Given the description of an element on the screen output the (x, y) to click on. 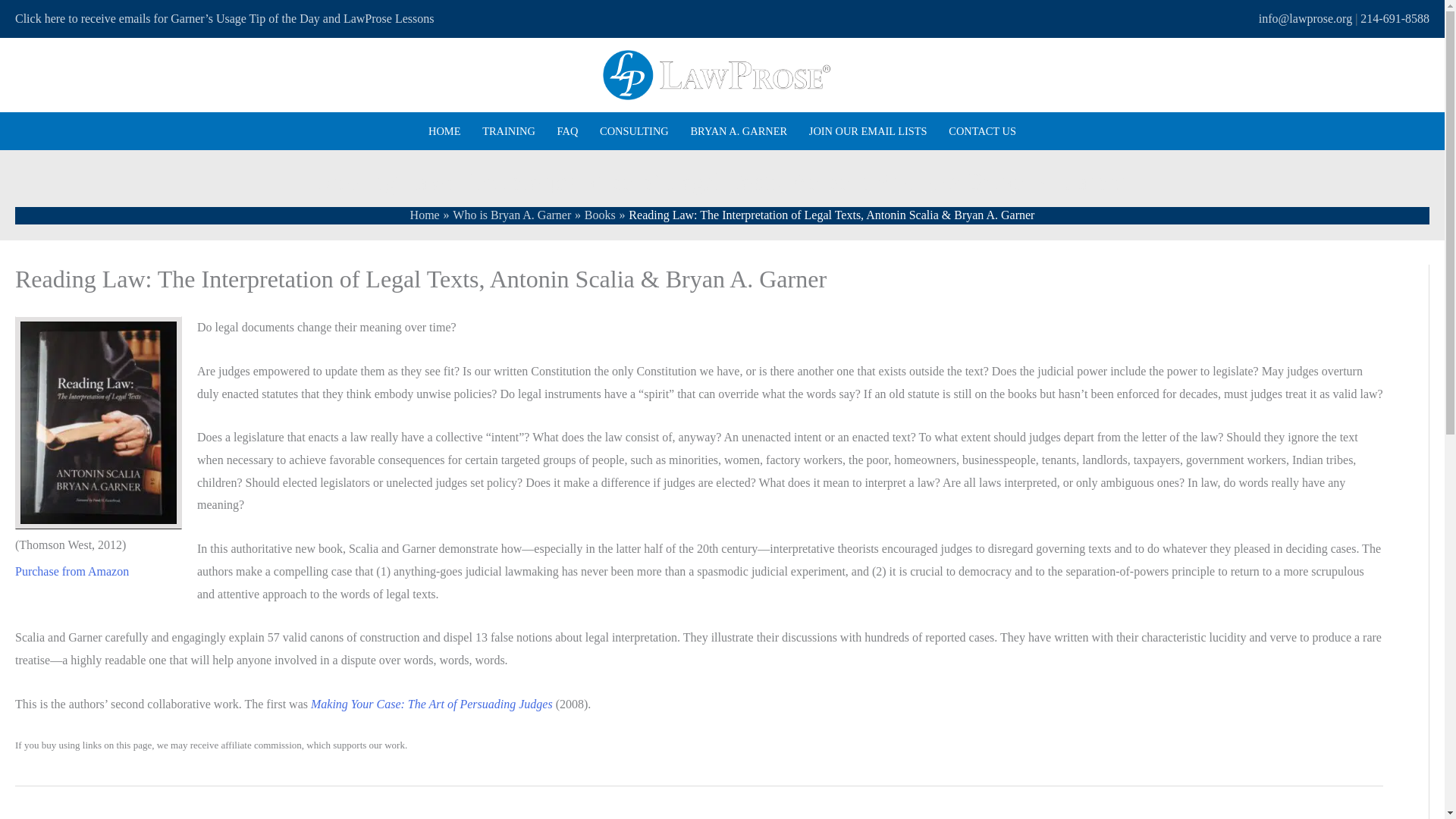
FAQ (567, 130)
TRAINING (508, 130)
214-691-8588 (1394, 18)
Making Your Case: The Art of Persuading Judges (432, 703)
CLE Training (508, 130)
HOME (444, 130)
